Given the description of an element on the screen output the (x, y) to click on. 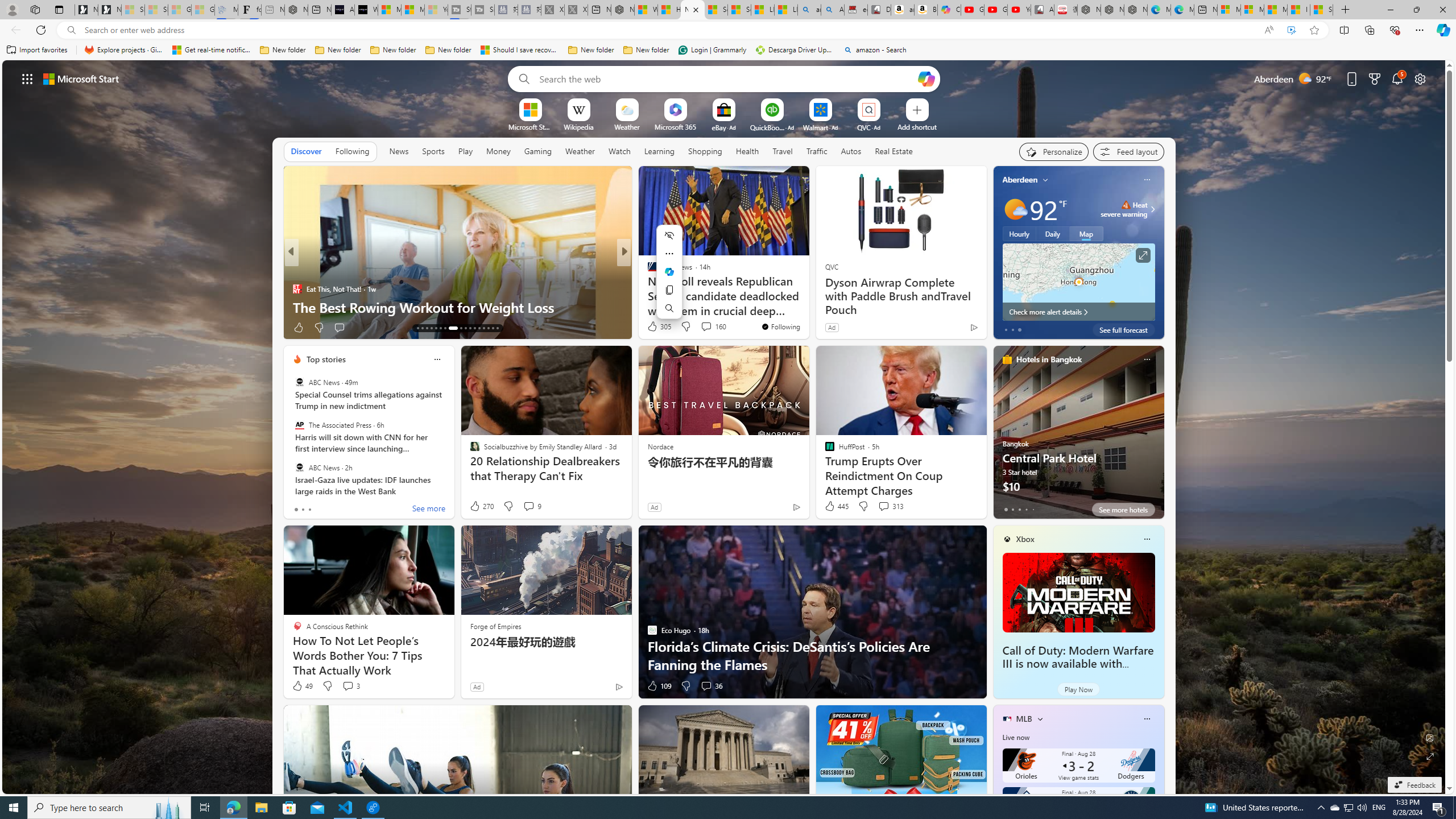
See more (428, 509)
Split screen (1344, 29)
It's officially the end for Windows 10! (807, 307)
Ad (476, 686)
AutomationID: backgroundImagePicture (723, 426)
More actions (668, 253)
See more (795, 179)
Microsoft Start (1275, 9)
109 Like (658, 685)
See full forecast (1123, 329)
New tab - Sleeping (272, 9)
previous (998, 252)
All Cubot phones (1042, 9)
Class: weather-arrow-glyph (1152, 208)
